Given the description of an element on the screen output the (x, y) to click on. 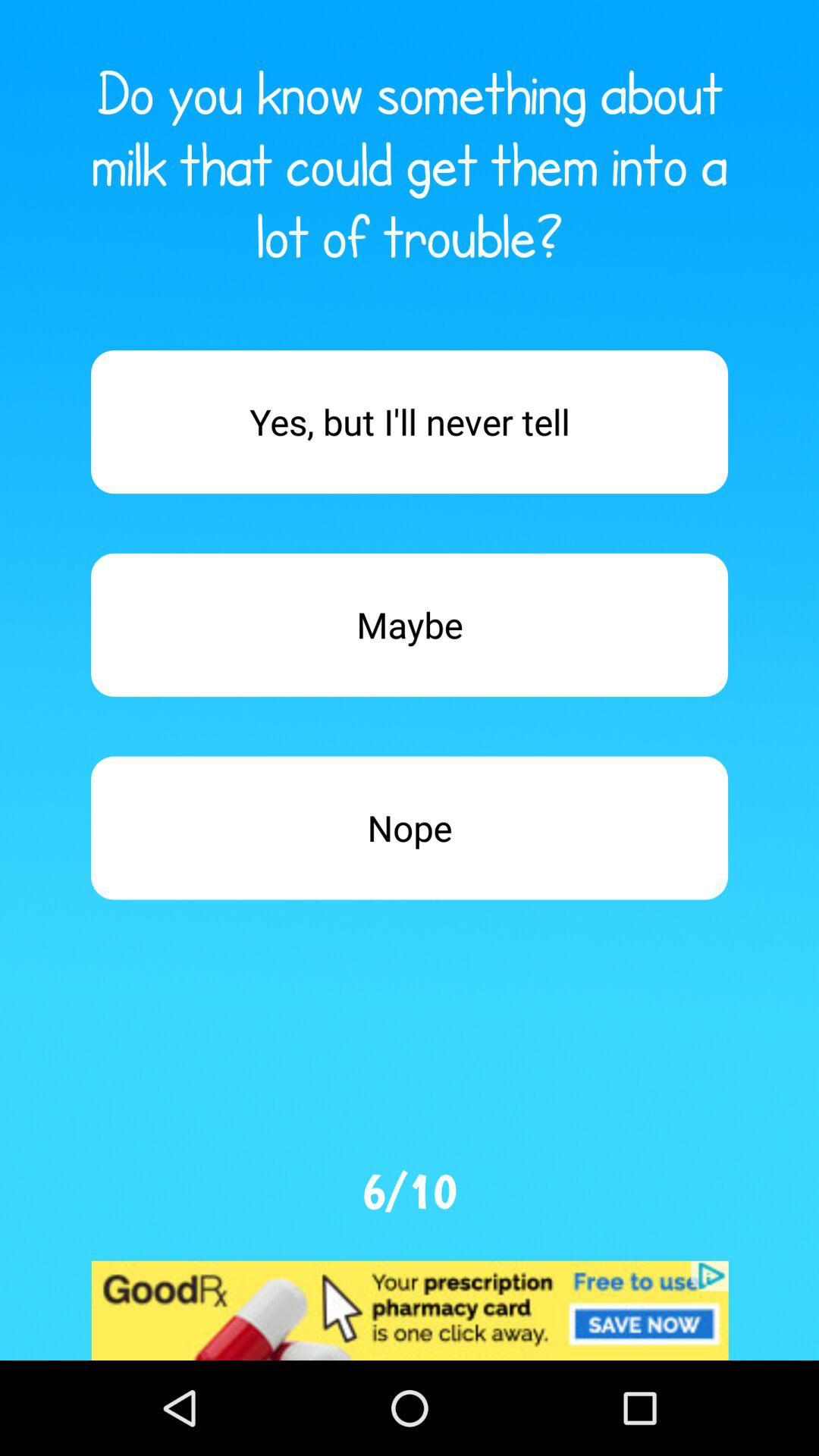
select answer (409, 421)
